Given the description of an element on the screen output the (x, y) to click on. 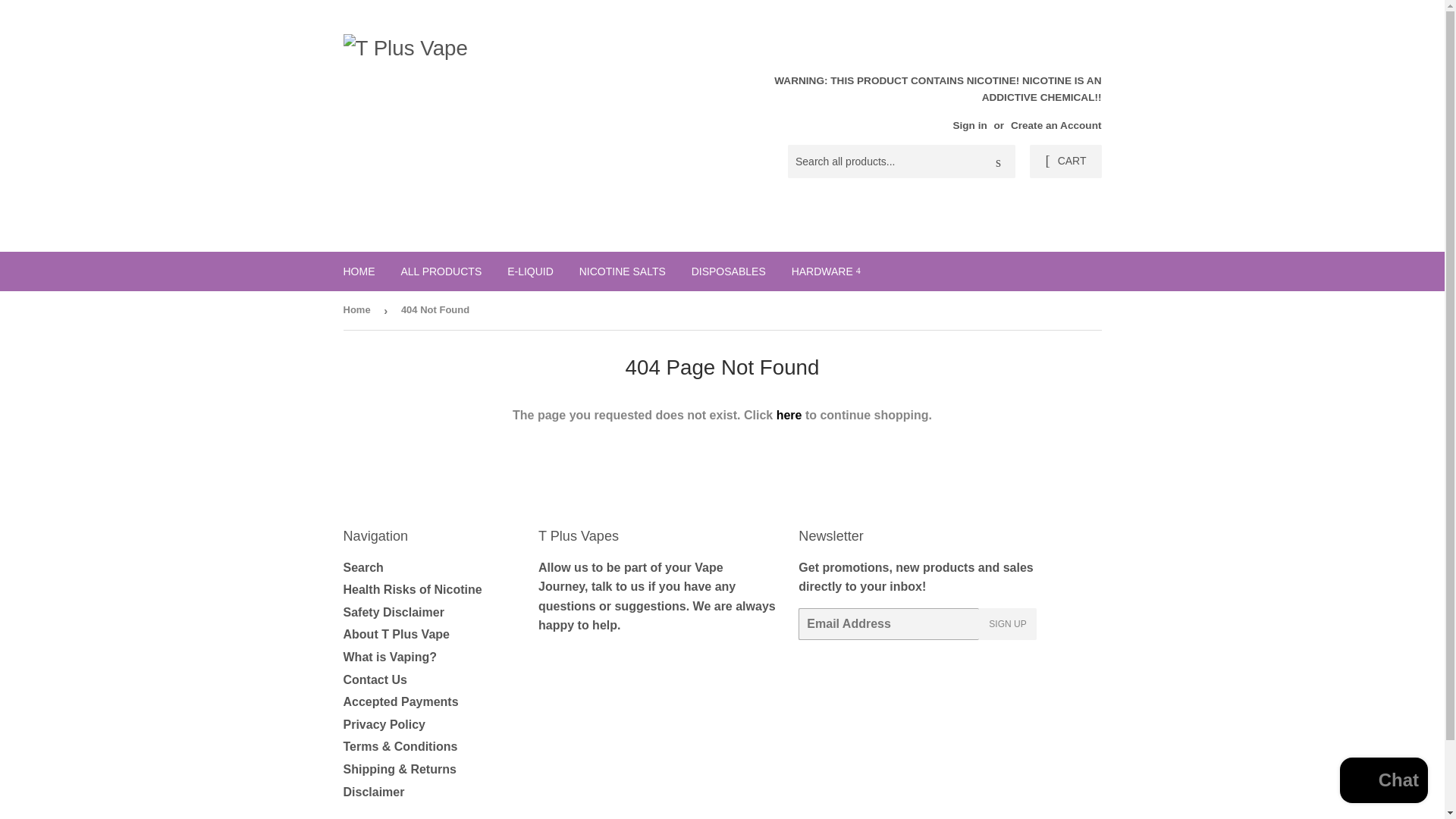
What is Vaping? (389, 656)
CART (1064, 161)
HARDWARE (826, 271)
Health Risks of Nicotine (411, 589)
ALL PRODUCTS (440, 271)
Sign in (969, 125)
About T Plus Vape (395, 634)
Search (362, 567)
DISPOSABLES (728, 271)
Safety Disclaimer (393, 612)
NICOTINE SALTS (622, 271)
Shopify online store chat (1383, 781)
HOME (359, 271)
E-LIQUID (530, 271)
Create an Account (1056, 125)
